Given the description of an element on the screen output the (x, y) to click on. 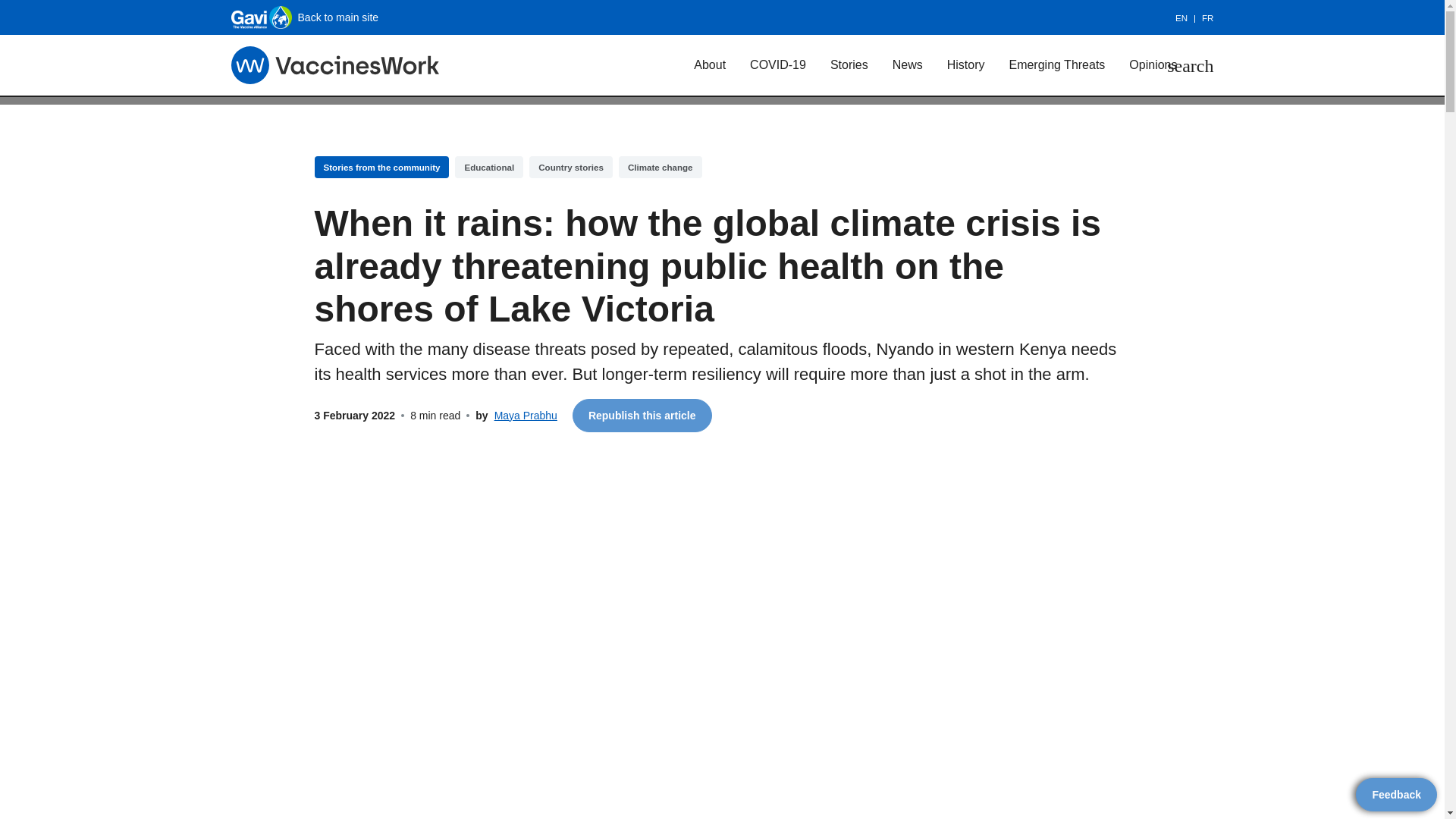
COVID-19 (778, 64)
Republish this article (641, 415)
Climate change (659, 167)
FR (1207, 17)
Back to main site (304, 16)
History (965, 64)
News (907, 64)
Country stories (570, 167)
Emerging Threats (1055, 64)
Educational (488, 167)
